Given the description of an element on the screen output the (x, y) to click on. 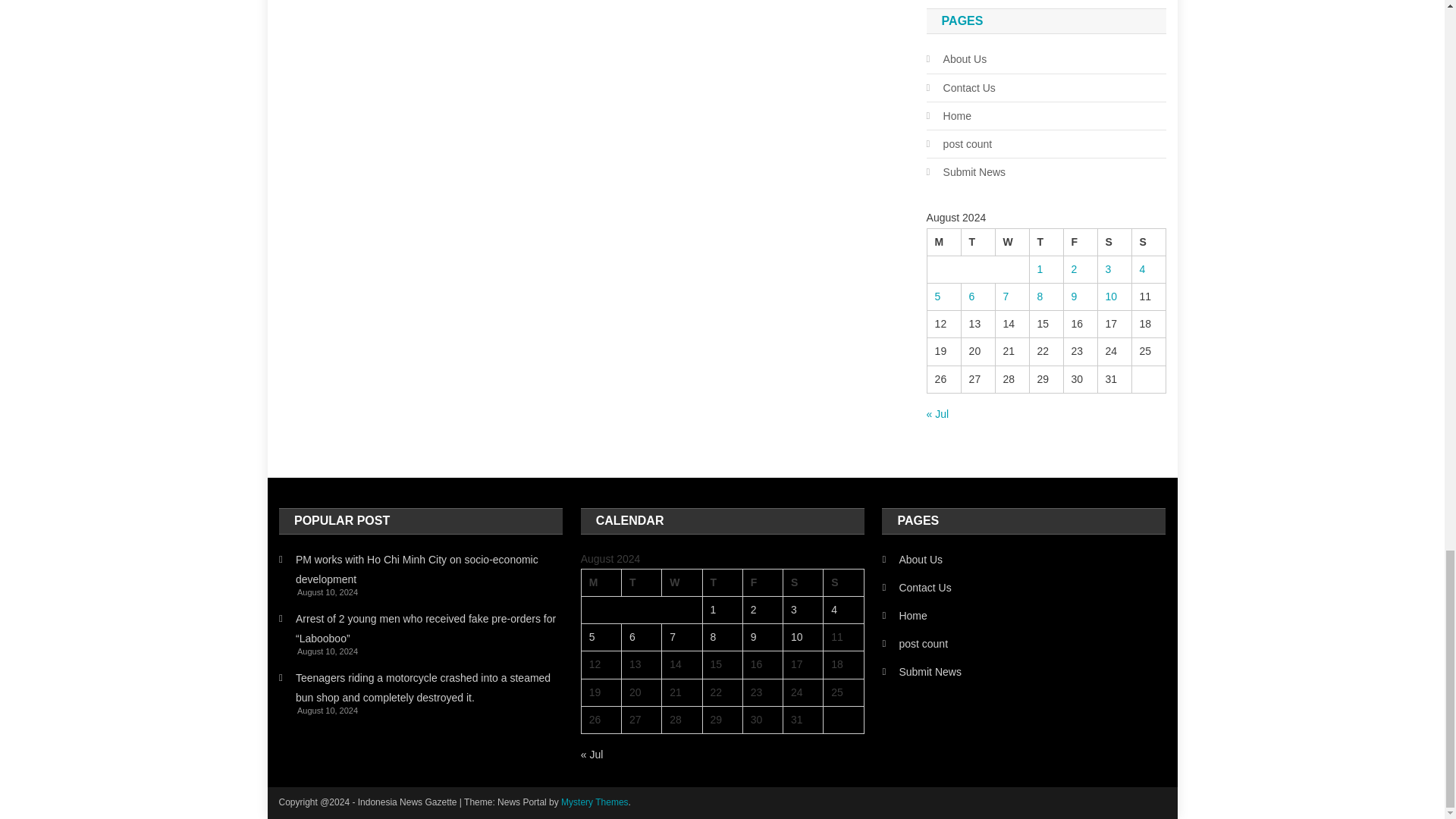
Thursday (721, 582)
Thursday (1045, 241)
Tuesday (977, 241)
Wednesday (681, 582)
Friday (762, 582)
Sunday (1148, 241)
Saturday (803, 582)
Tuesday (641, 582)
Saturday (1114, 241)
Monday (943, 241)
